Given the description of an element on the screen output the (x, y) to click on. 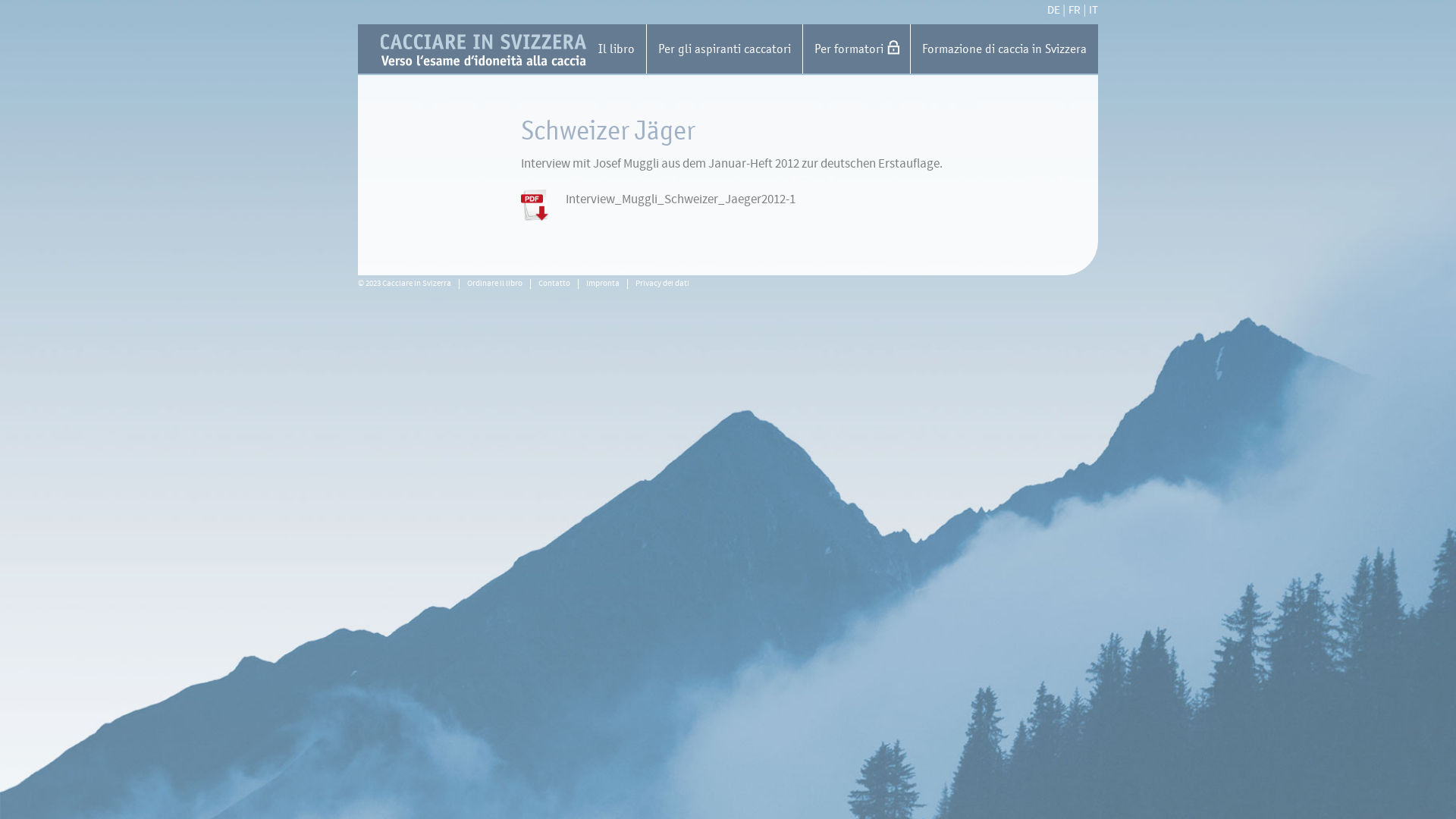
Privacy dei dati Element type: text (661, 283)
Impronta Element type: text (602, 283)
Il libro Element type: text (616, 48)
IT Element type: text (1093, 10)
Per formatori Element type: text (856, 48)
Per gli aspiranti caccatori Element type: text (724, 48)
DE Element type: text (1053, 10)
Interview_Muggli_Schweizer_Jaeger2012-1 Element type: text (680, 199)
FR Element type: text (1074, 10)
Ordinare il libro Element type: text (494, 283)
Contatto Element type: text (553, 283)
Cacciare in Svizerra Element type: hover (739, 49)
Formazione di caccia in Svizzera Element type: text (1004, 48)
